Given the description of an element on the screen output the (x, y) to click on. 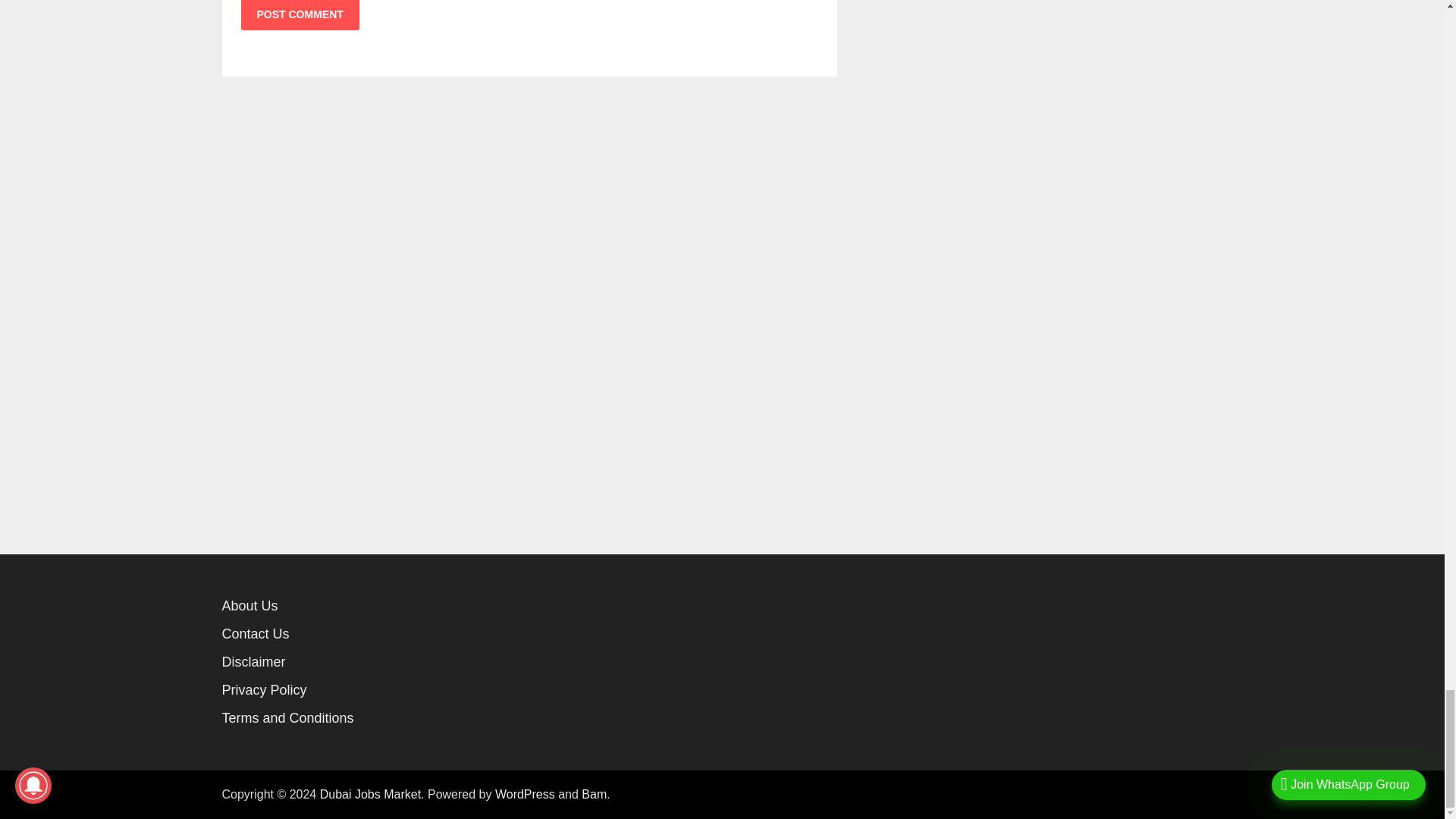
Dubai Jobs Market (370, 793)
Post Comment (300, 15)
